Given the description of an element on the screen output the (x, y) to click on. 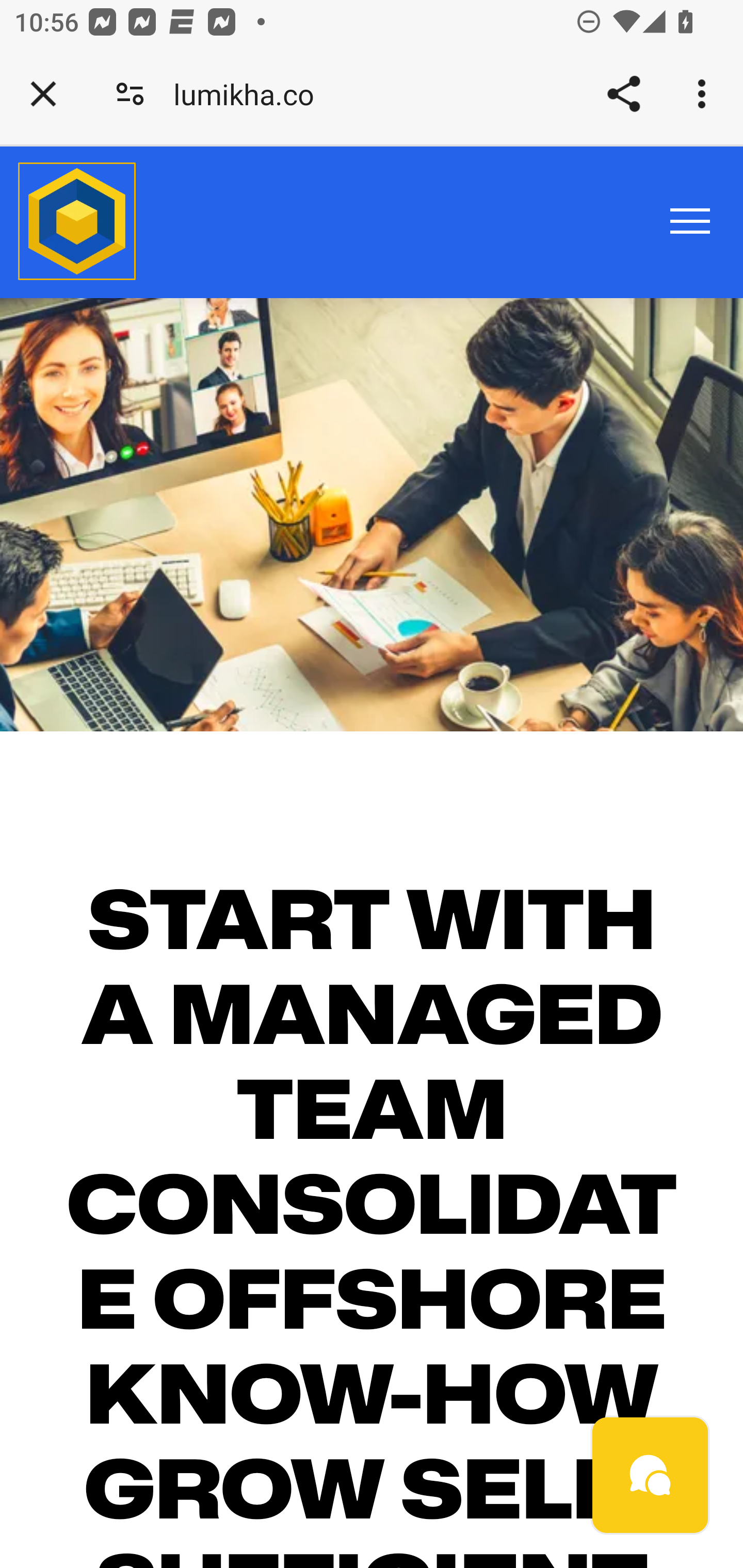
Close tab (43, 93)
Share (623, 93)
Customize and control Google Chrome (705, 93)
Connection is secure (129, 93)
lumikha.co (250, 93)
LUMI-ID-Avatar_Transparent-640w (77, 222)
menu opener (690, 220)
bubble-icon (650, 1476)
